Given the description of an element on the screen output the (x, y) to click on. 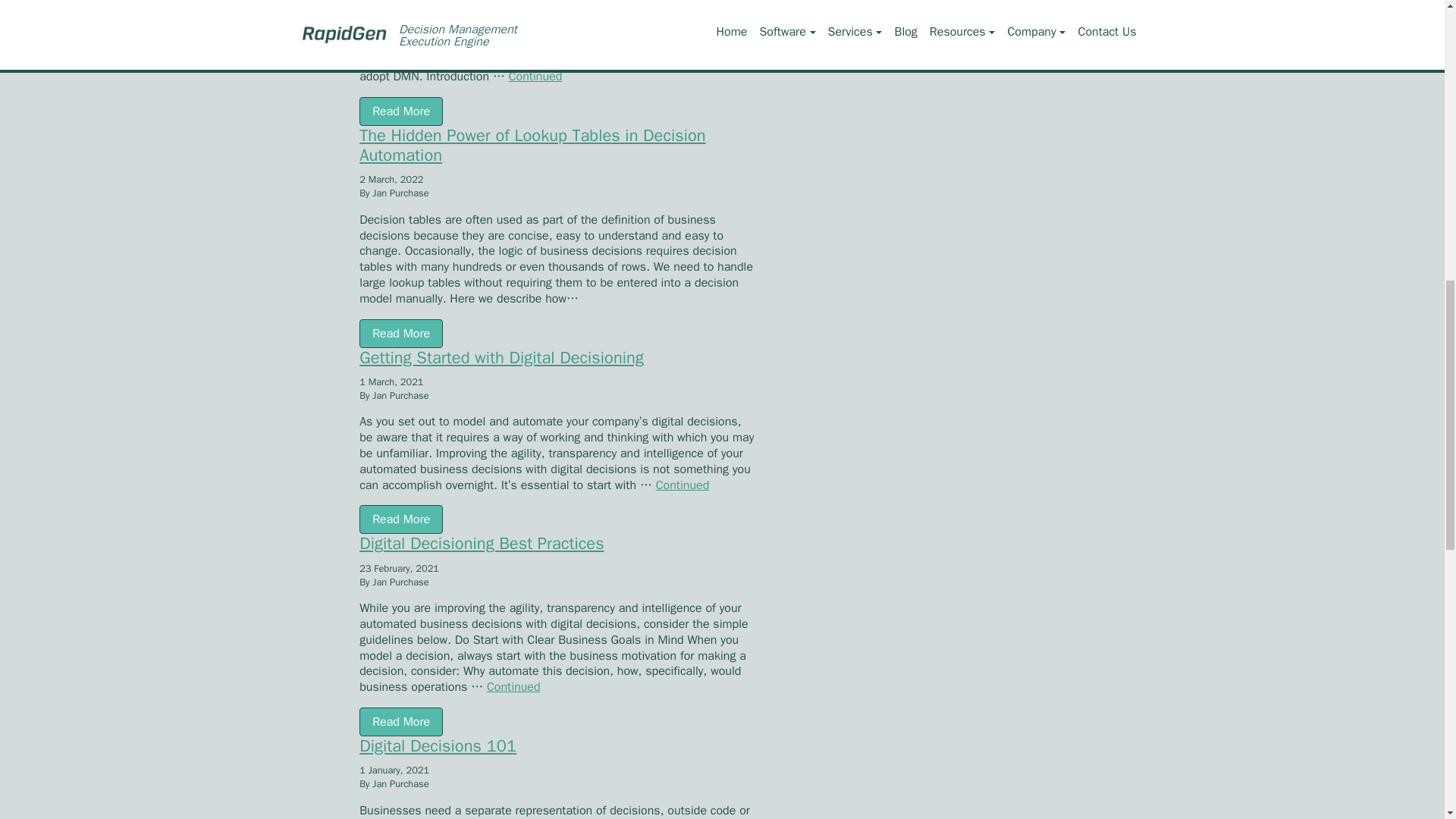
Continued (683, 485)
The Hidden Power of Lookup Tables in Decision Automation (558, 156)
Getting Started with Digital Decisioning (558, 368)
Read More (400, 333)
Read More (400, 111)
Continued (535, 76)
